Given the description of an element on the screen output the (x, y) to click on. 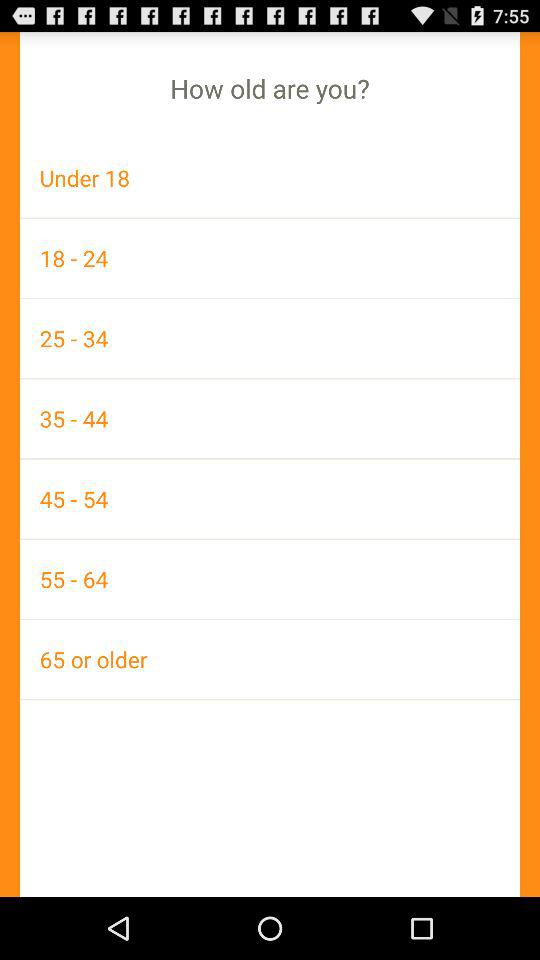
click the icon above 25 - 34 item (269, 258)
